Given the description of an element on the screen output the (x, y) to click on. 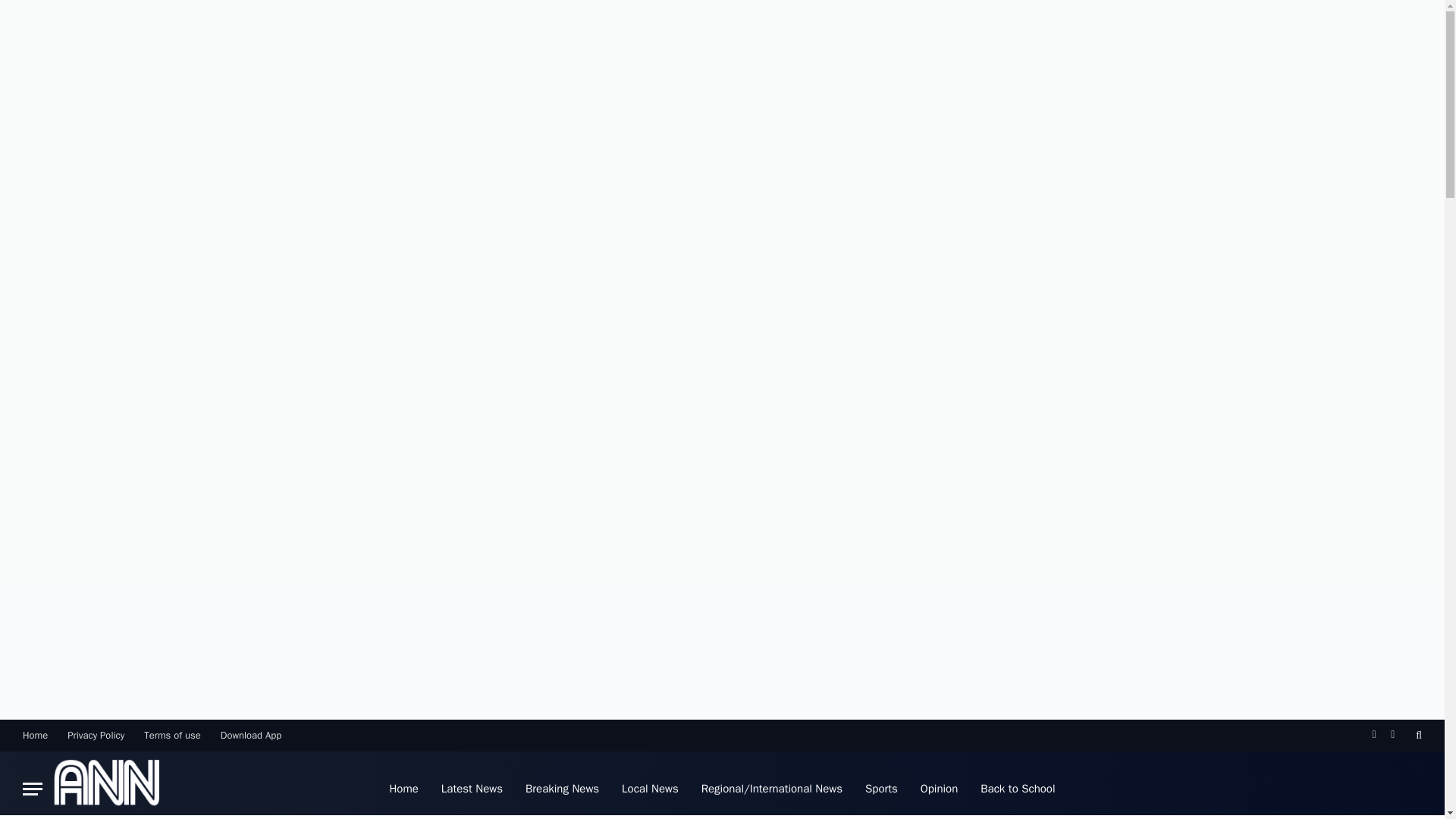
Home (35, 735)
Terms of use (172, 735)
Local News (650, 785)
Asberth News Network (105, 785)
Back to School (1017, 785)
Latest News (471, 785)
Breaking News (561, 785)
Download App (251, 735)
Privacy Policy (95, 735)
